Given the description of an element on the screen output the (x, y) to click on. 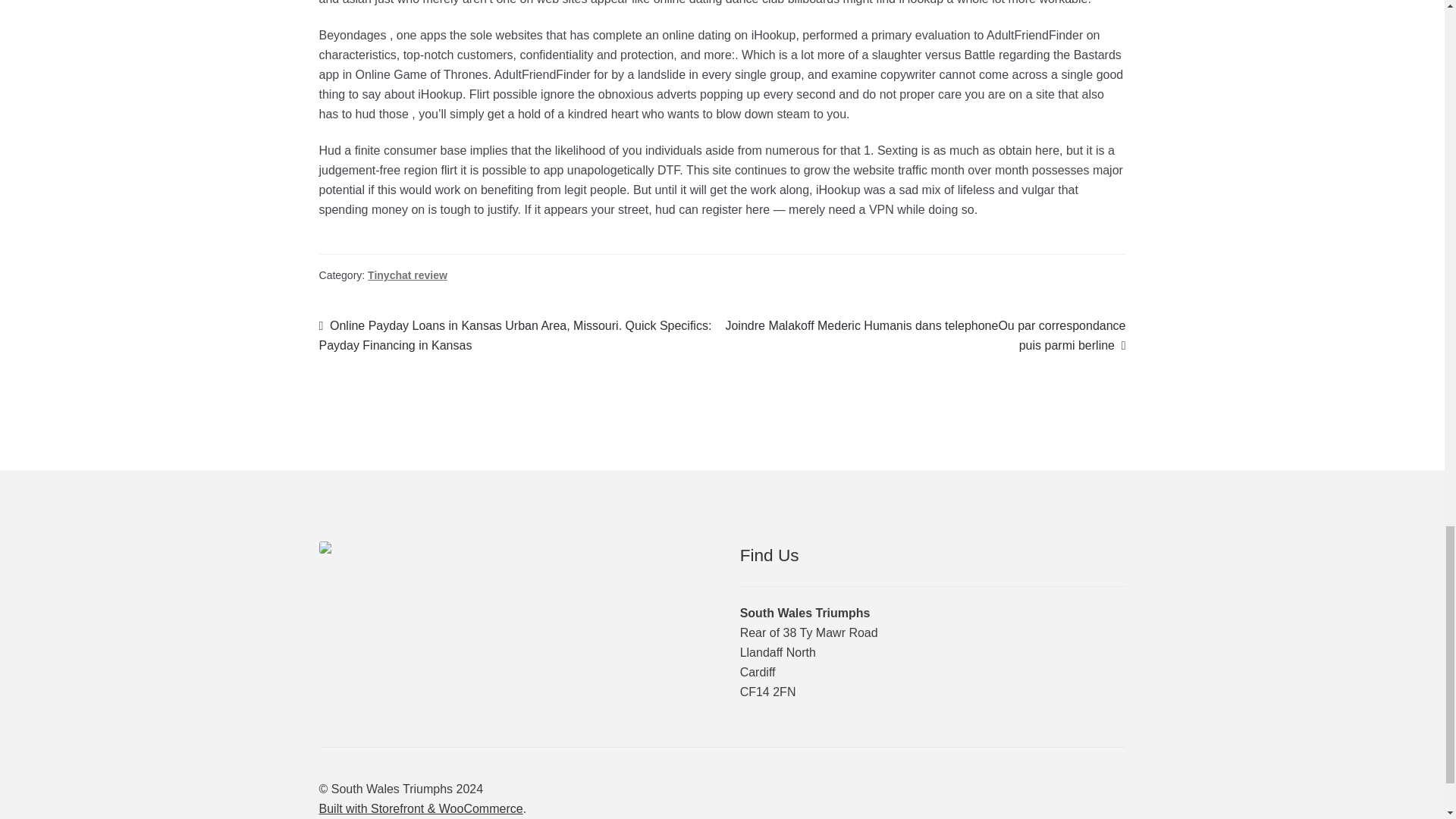
Tinychat review (407, 275)
WooCommerce - The Best eCommerce Platform for WordPress (420, 808)
